Given the description of an element on the screen output the (x, y) to click on. 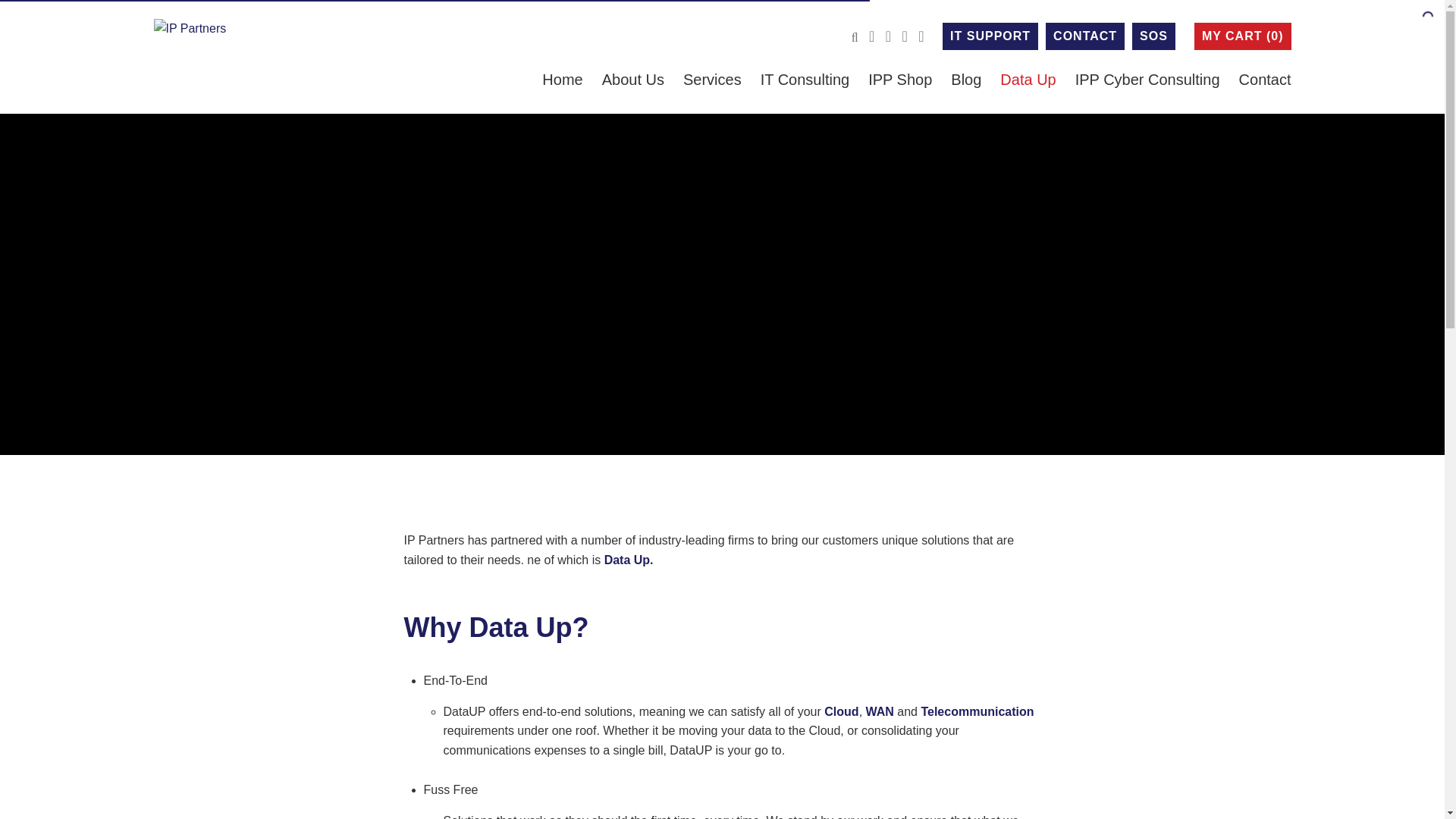
Telecommunication (976, 711)
IT SUPPORT (990, 35)
IPP Shop (899, 79)
SOS (1153, 35)
Home (561, 79)
Data Up (1027, 79)
About Us (632, 79)
Blog (965, 79)
Why Data Up? (495, 626)
Cloud (841, 711)
